Given the description of an element on the screen output the (x, y) to click on. 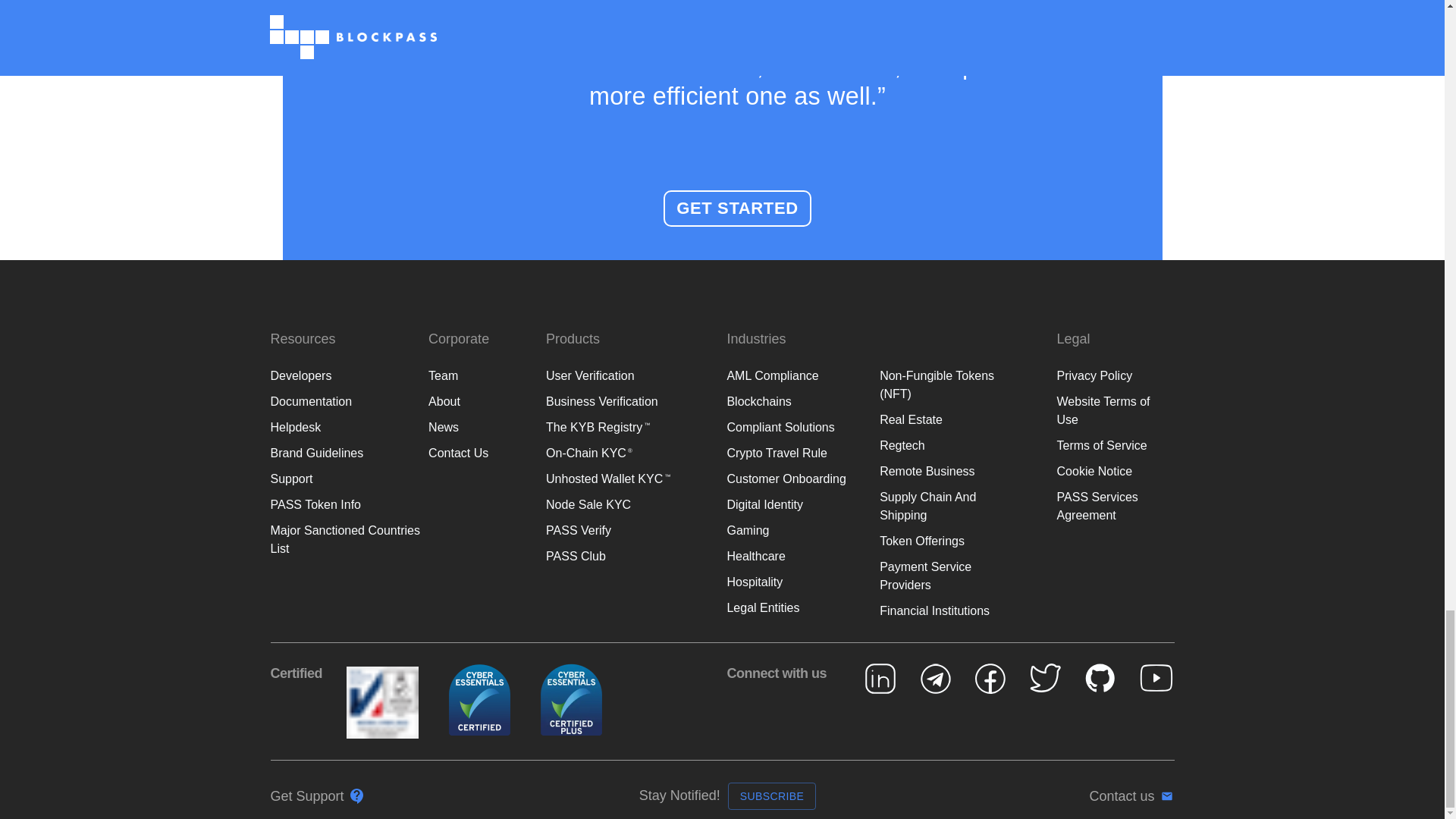
PASS Club (575, 508)
PASS Verify (578, 481)
Brand Guidelines (315, 404)
Support (291, 431)
Developers (300, 327)
Team (443, 327)
Business Verification (602, 353)
PASS Token Info (314, 456)
User Verification (590, 327)
Documentation (310, 353)
About (444, 353)
Contact Us (457, 404)
Helpdesk (294, 379)
Major Sanctioned Countries List (344, 490)
Node Sale KYC (588, 456)
